Given the description of an element on the screen output the (x, y) to click on. 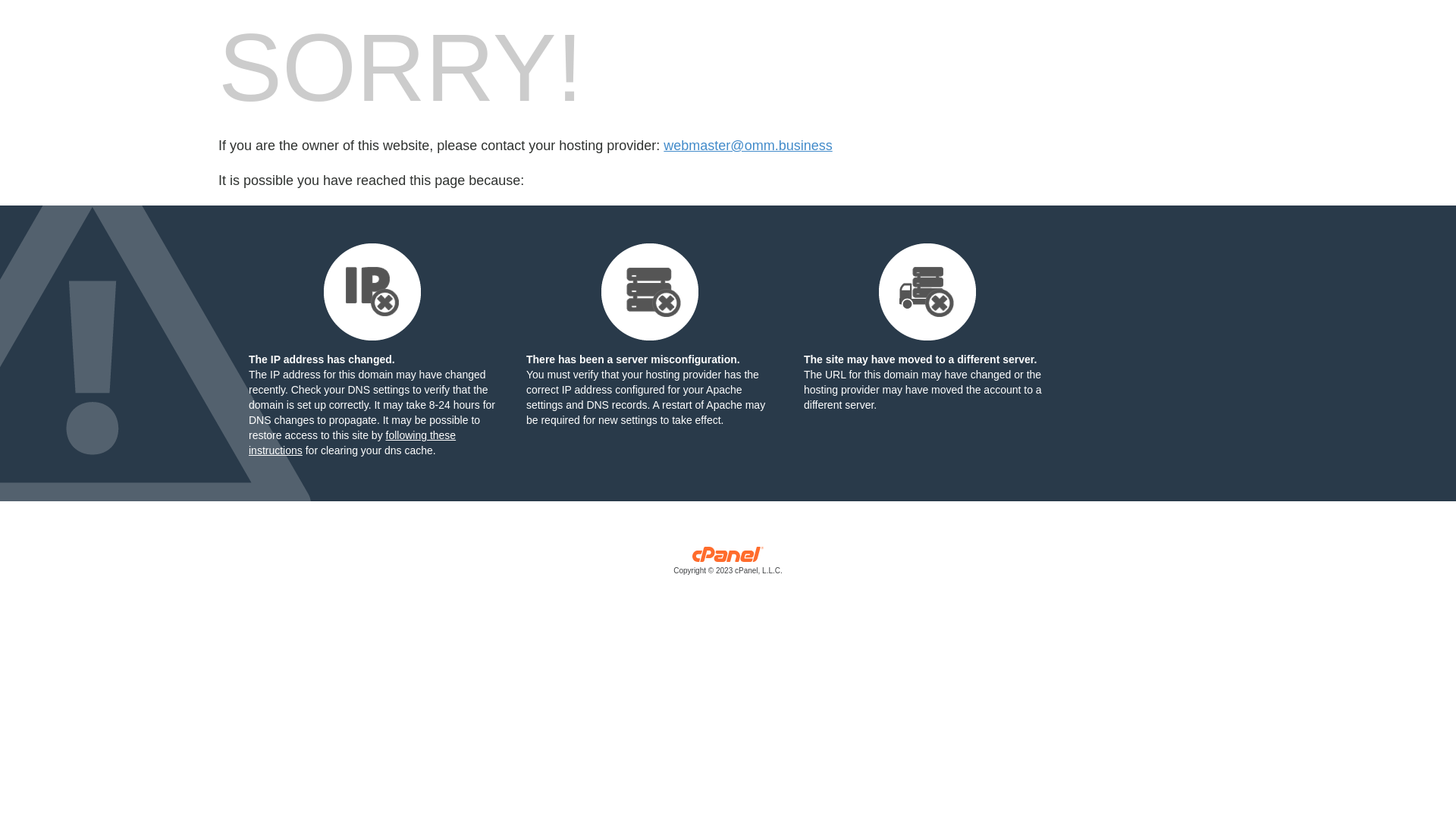
following these instructions Element type: text (351, 442)
webmaster@omm.business Element type: text (747, 145)
